Given the description of an element on the screen output the (x, y) to click on. 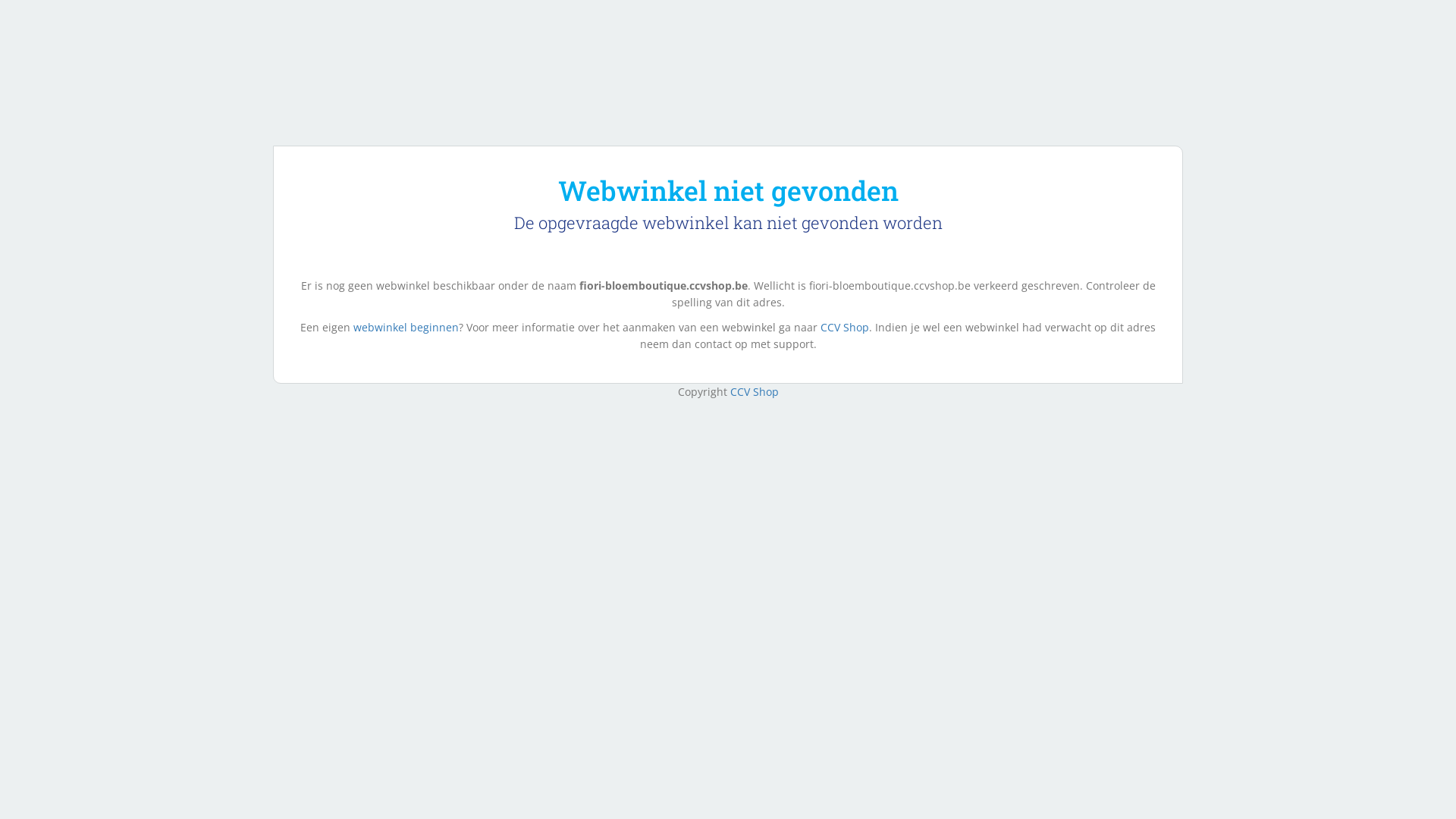
CCV Shop Element type: text (844, 327)
CCV Shop Element type: text (753, 391)
webwinkel beginnen Element type: text (405, 327)
